Given the description of an element on the screen output the (x, y) to click on. 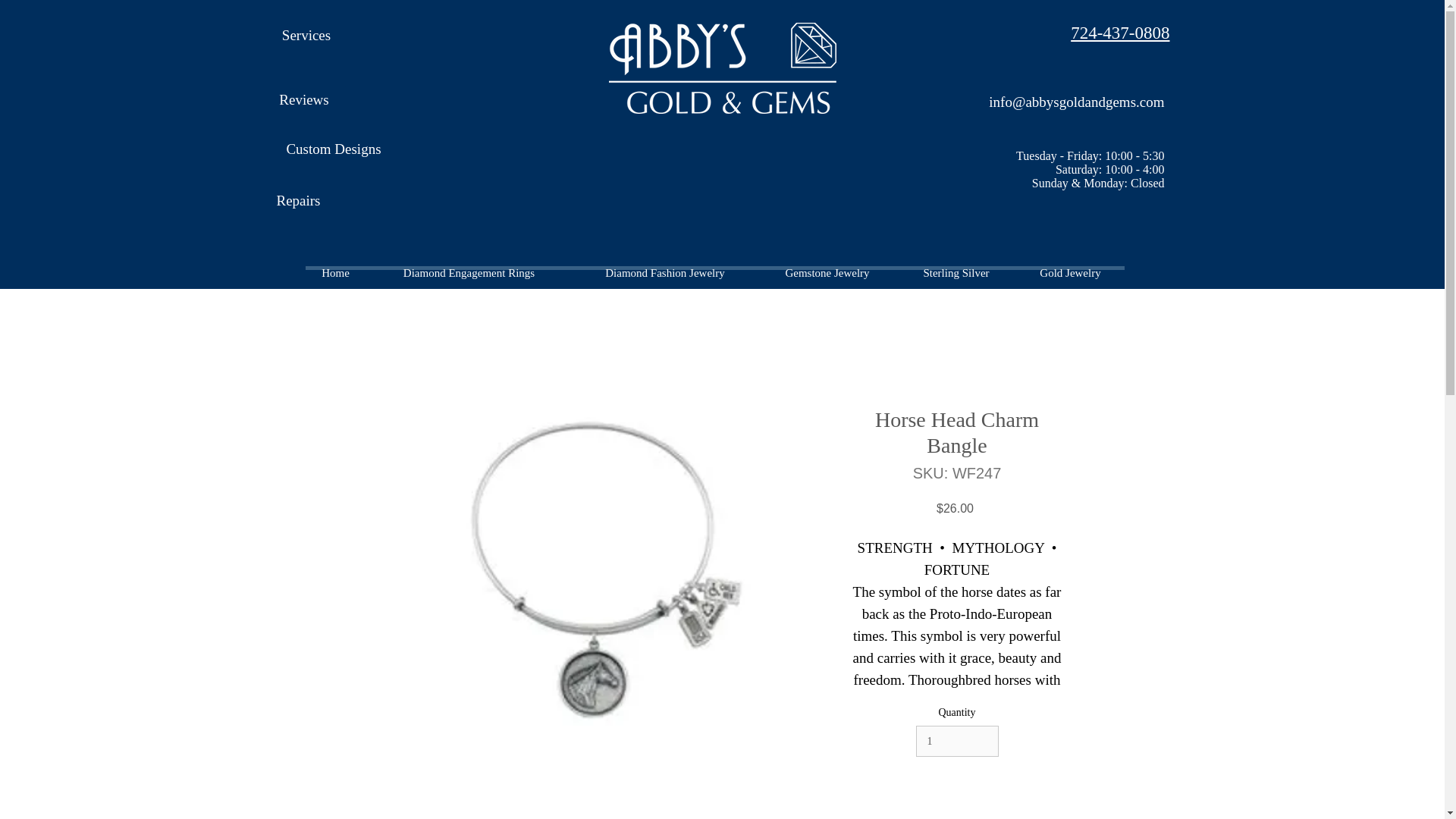
724-437-0808 (1119, 32)
1 (956, 740)
Home (334, 273)
Diamond Engagement Rings (467, 273)
Repairs (297, 201)
Services (306, 35)
Gold Jewelry (1070, 273)
Gemstone Jewelry (827, 273)
Sterling Silver (956, 273)
Diamond Fashion Jewelry (665, 273)
Reviews (303, 100)
Custom Designs (333, 149)
